Given the description of an element on the screen output the (x, y) to click on. 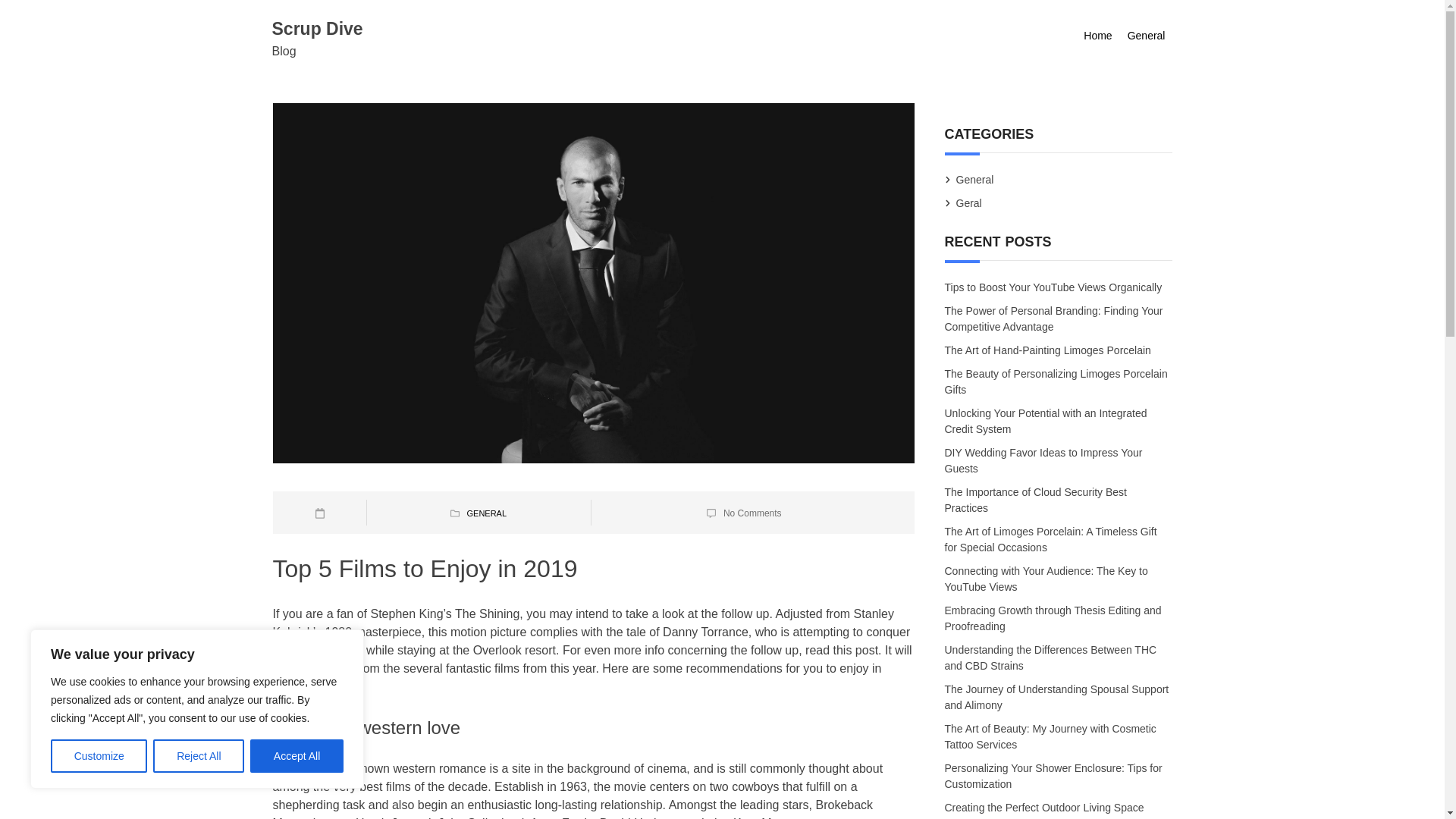
Geral (968, 203)
The Importance of Cloud Security Best Practices (1035, 499)
General (974, 179)
Tips to Boost Your YouTube Views Organically (1053, 287)
Customize (98, 756)
The Art of Hand-Painting Limoges Porcelain (1048, 350)
Scrup Dive (316, 28)
Home (1097, 35)
DIY Wedding Favor Ideas to Impress Your Guests (1043, 460)
Accept All (296, 756)
Unlocking Your Potential with an Integrated Credit System (1045, 421)
Reject All (198, 756)
No Comments (752, 512)
The Beauty of Personalizing Limoges Porcelain Gifts (1055, 381)
